Given the description of an element on the screen output the (x, y) to click on. 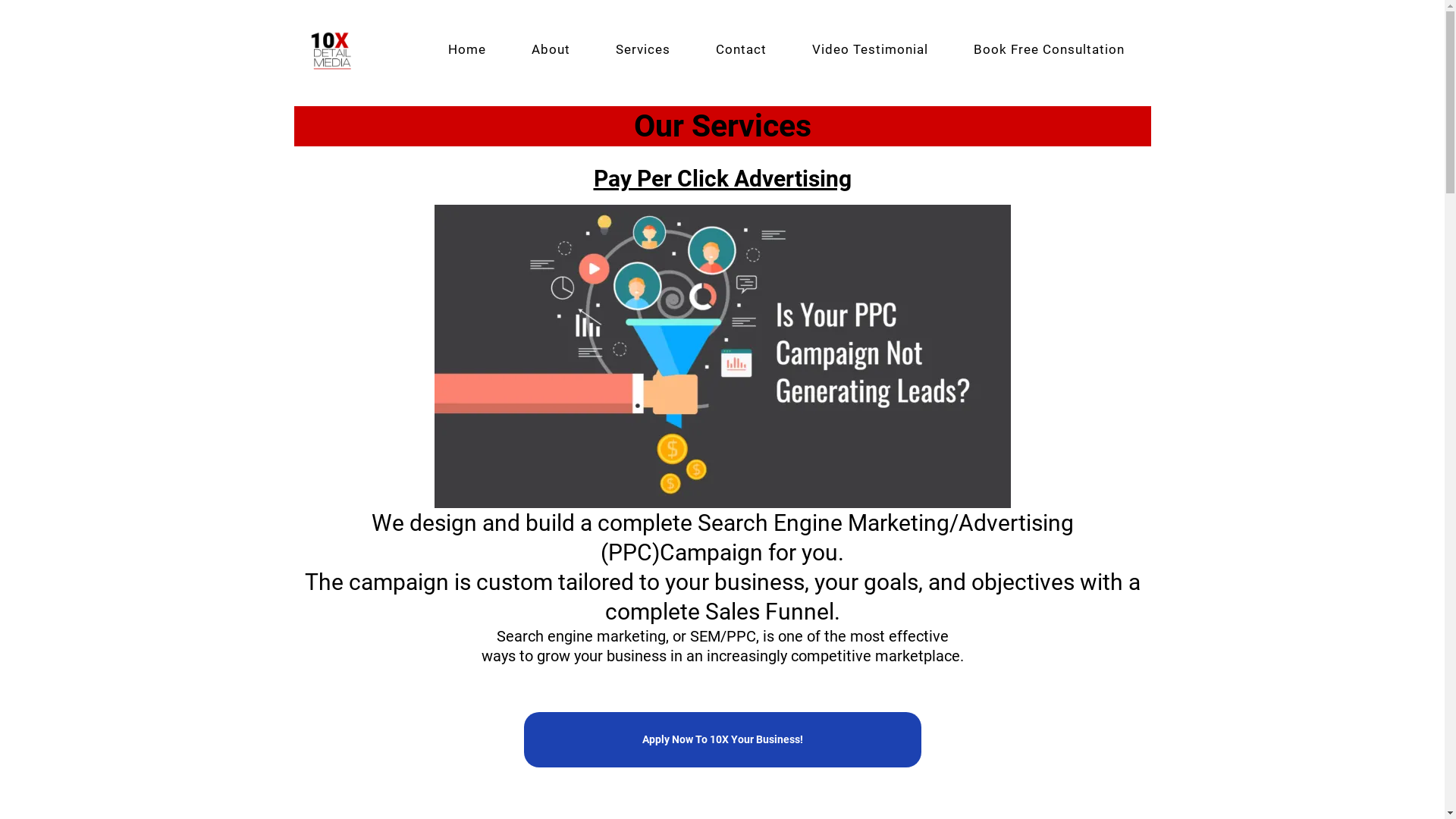
Apply Now To 10X Your Business! Element type: text (721, 739)
Contact Element type: text (741, 49)
About Element type: text (550, 49)
Book Free Consultation Element type: text (1048, 49)
Services Element type: text (643, 49)
Home Element type: text (466, 49)
Video Testimonial Element type: text (869, 49)
